Given the description of an element on the screen output the (x, y) to click on. 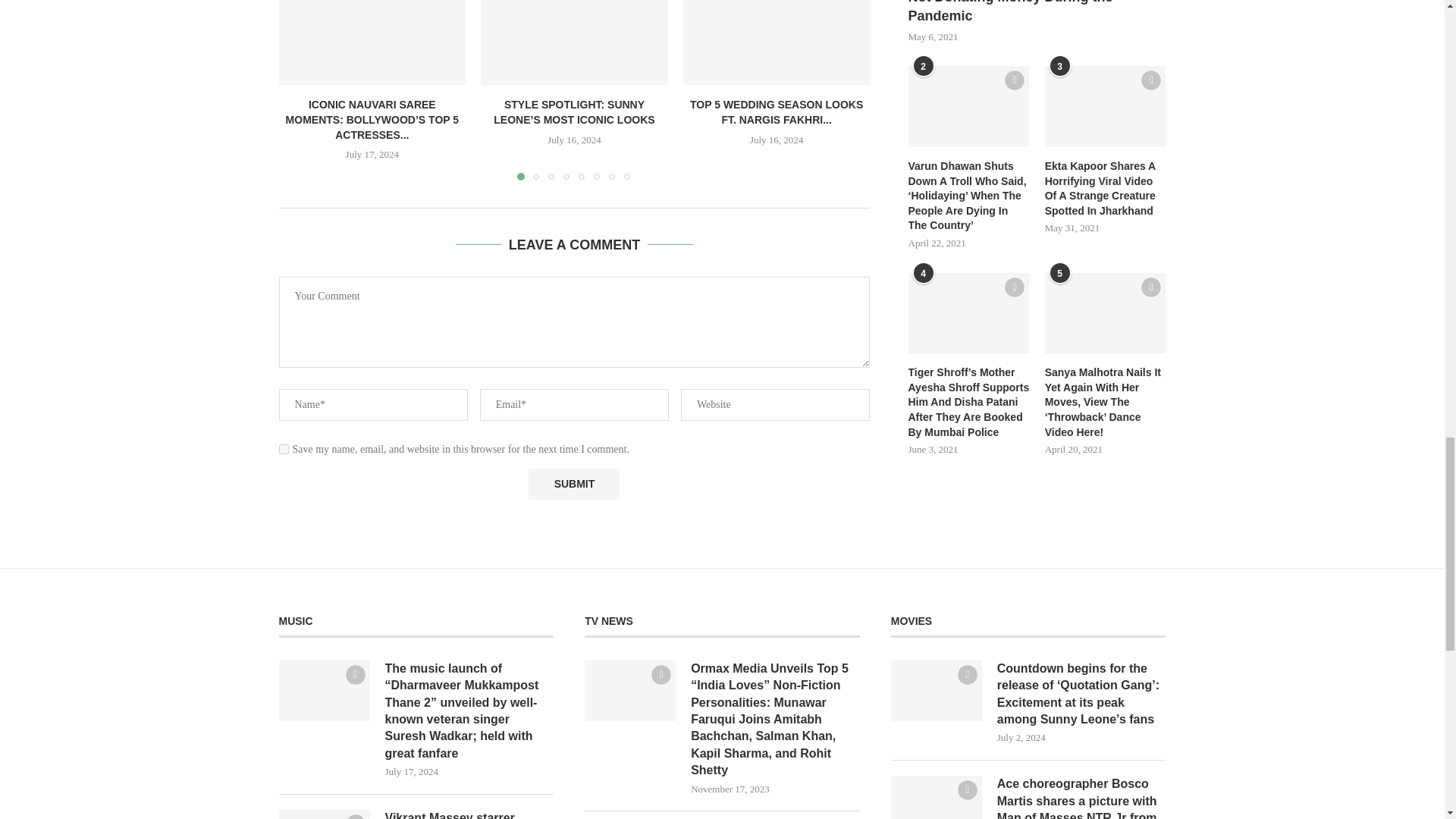
yes (283, 449)
Submit (574, 483)
